Given the description of an element on the screen output the (x, y) to click on. 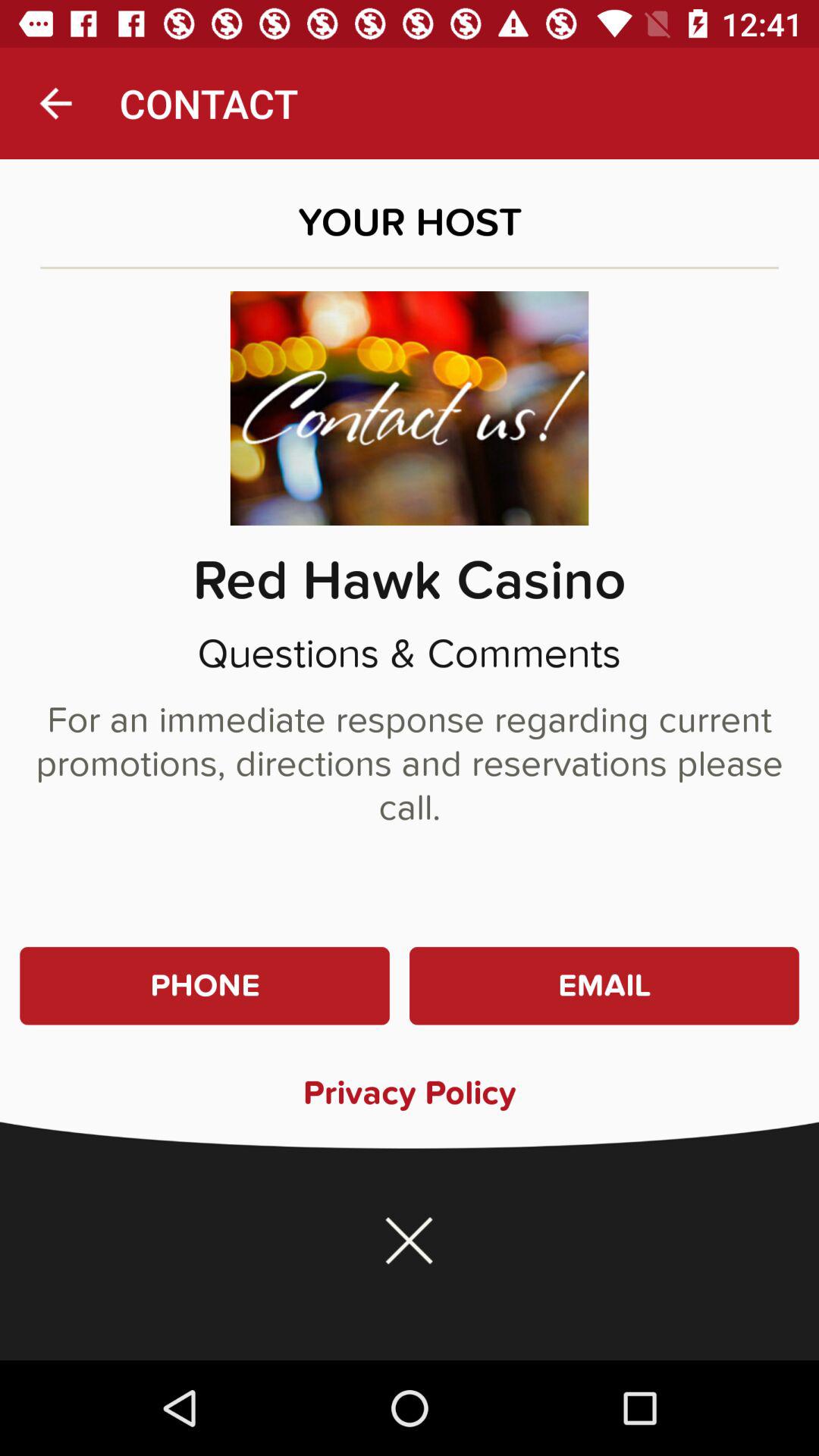
click the phone icon (204, 985)
